Given the description of an element on the screen output the (x, y) to click on. 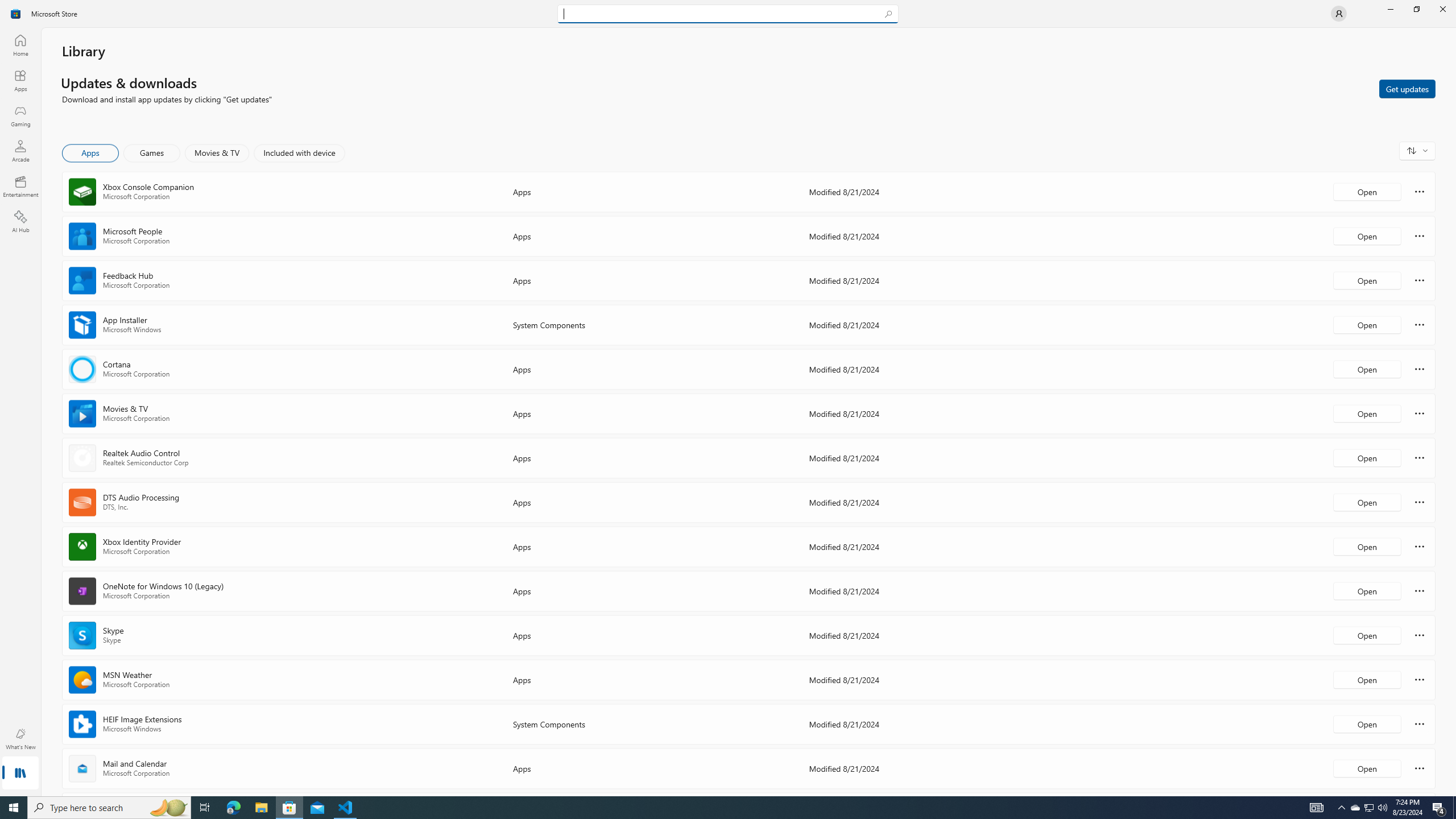
AutomationID: NavigationControl (728, 398)
Library (20, 773)
More options (1419, 768)
Home (20, 45)
Sort and filter (1417, 149)
Arcade (20, 150)
Search (727, 13)
Included with device (299, 153)
Games (151, 153)
User profile (1338, 13)
Close Microsoft Store (1442, 9)
Minimize Microsoft Store (1390, 9)
AI Hub (20, 221)
